Given the description of an element on the screen output the (x, y) to click on. 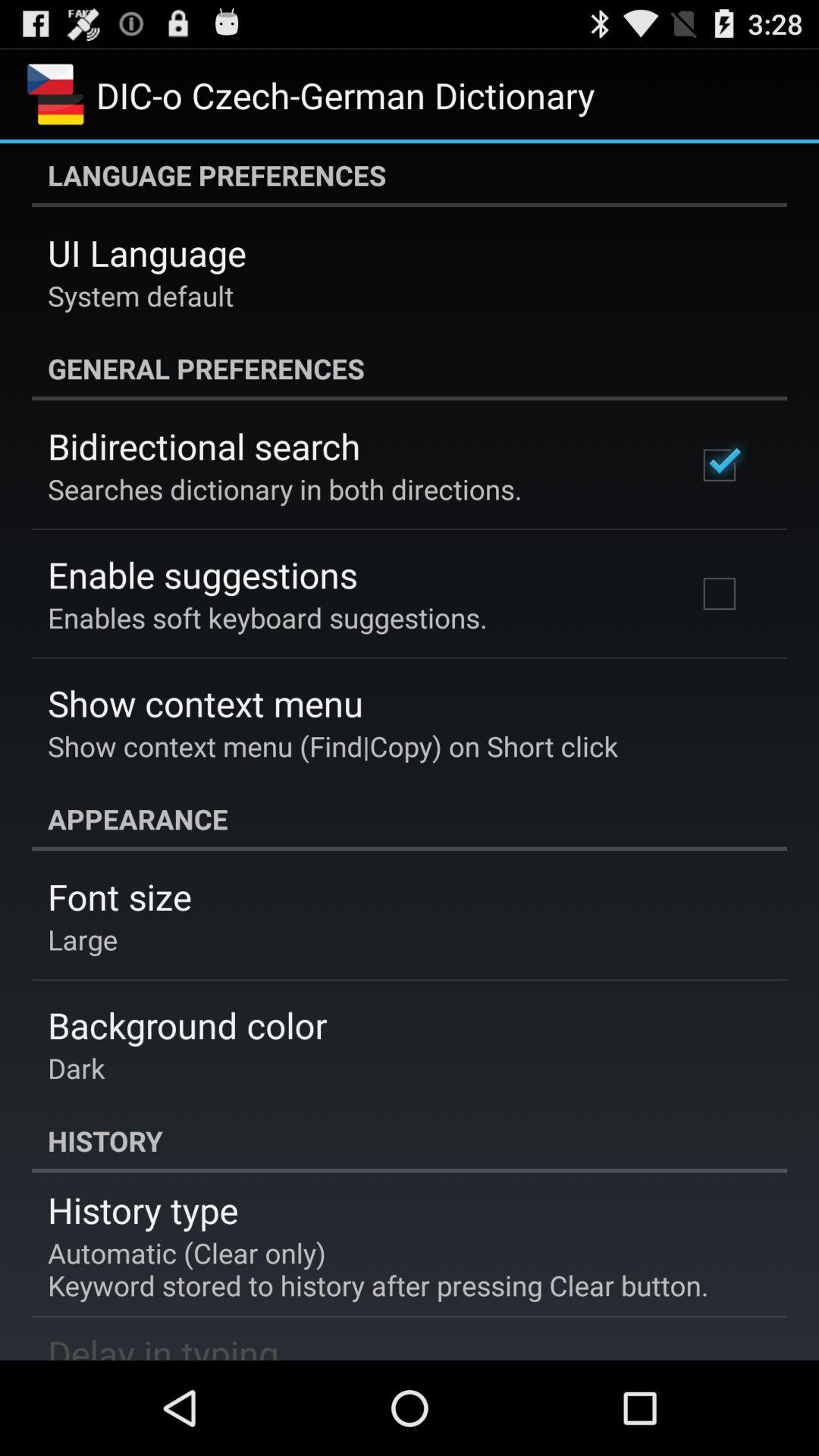
turn off the icon above enables soft keyboard (202, 574)
